Given the description of an element on the screen output the (x, y) to click on. 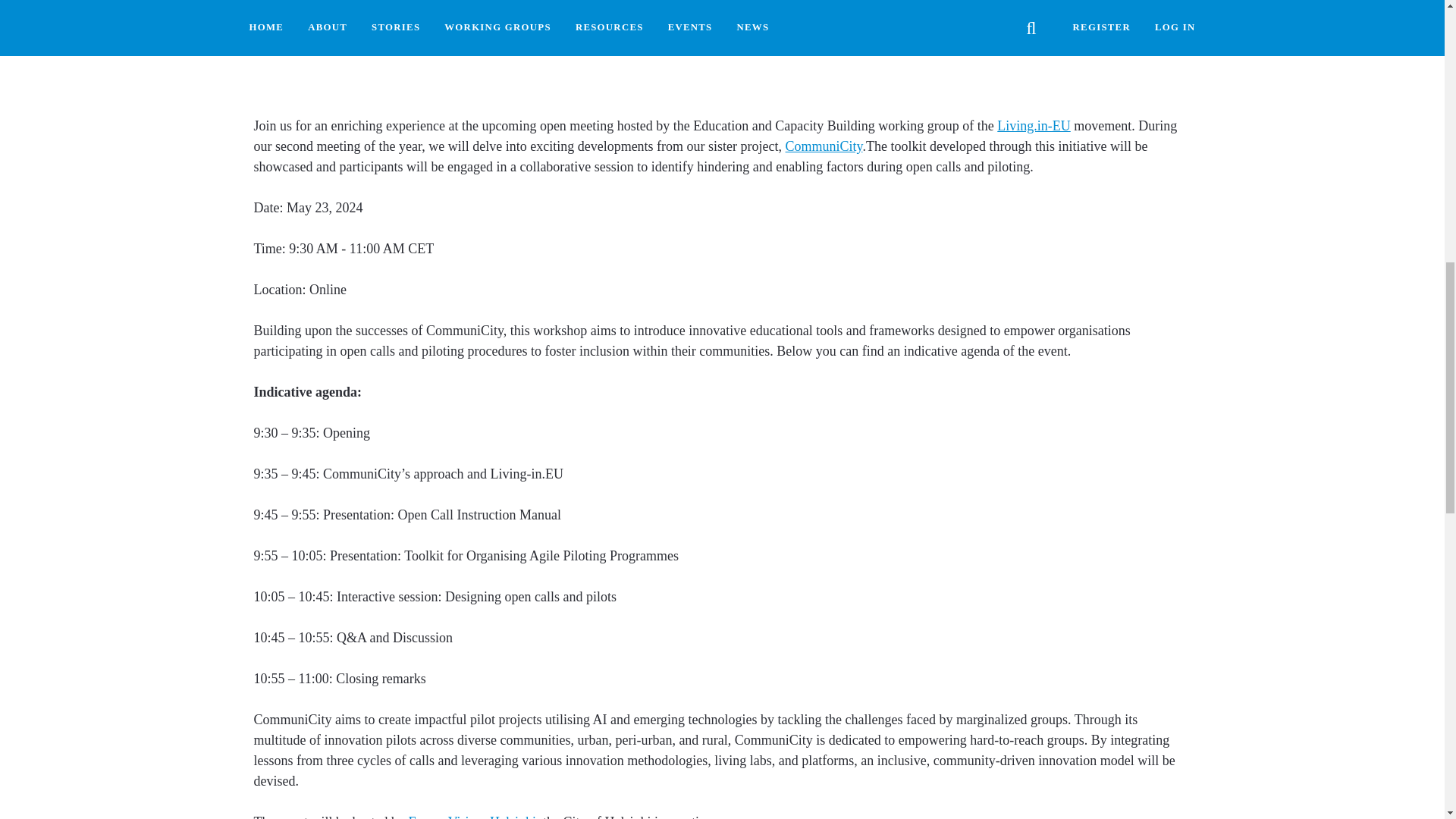
Living.in-EU (1033, 125)
CommuniCity (824, 145)
Forum Virium Helsinki (471, 816)
